Given the description of an element on the screen output the (x, y) to click on. 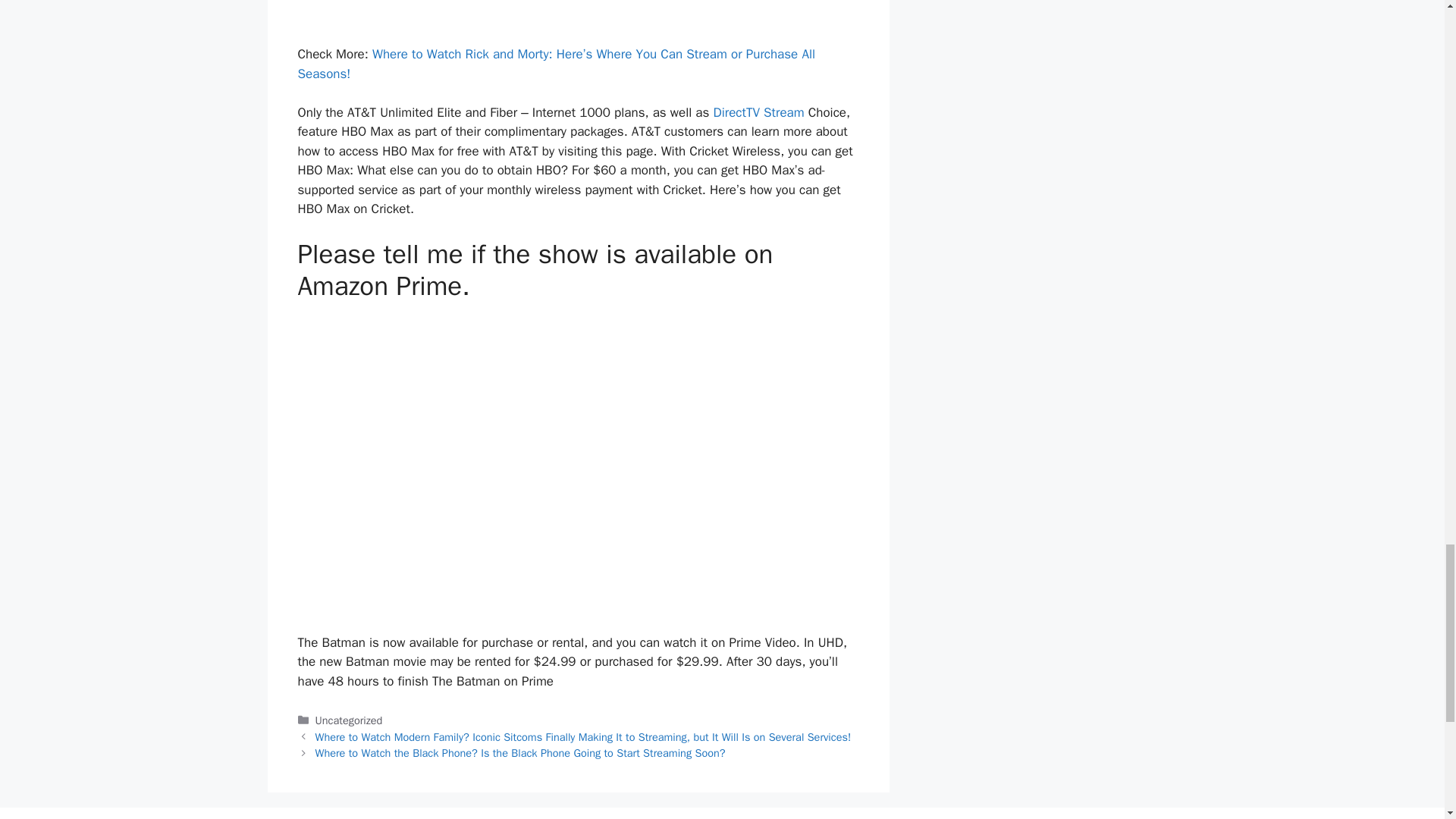
DirectTV Stream (758, 112)
